Given the description of an element on the screen output the (x, y) to click on. 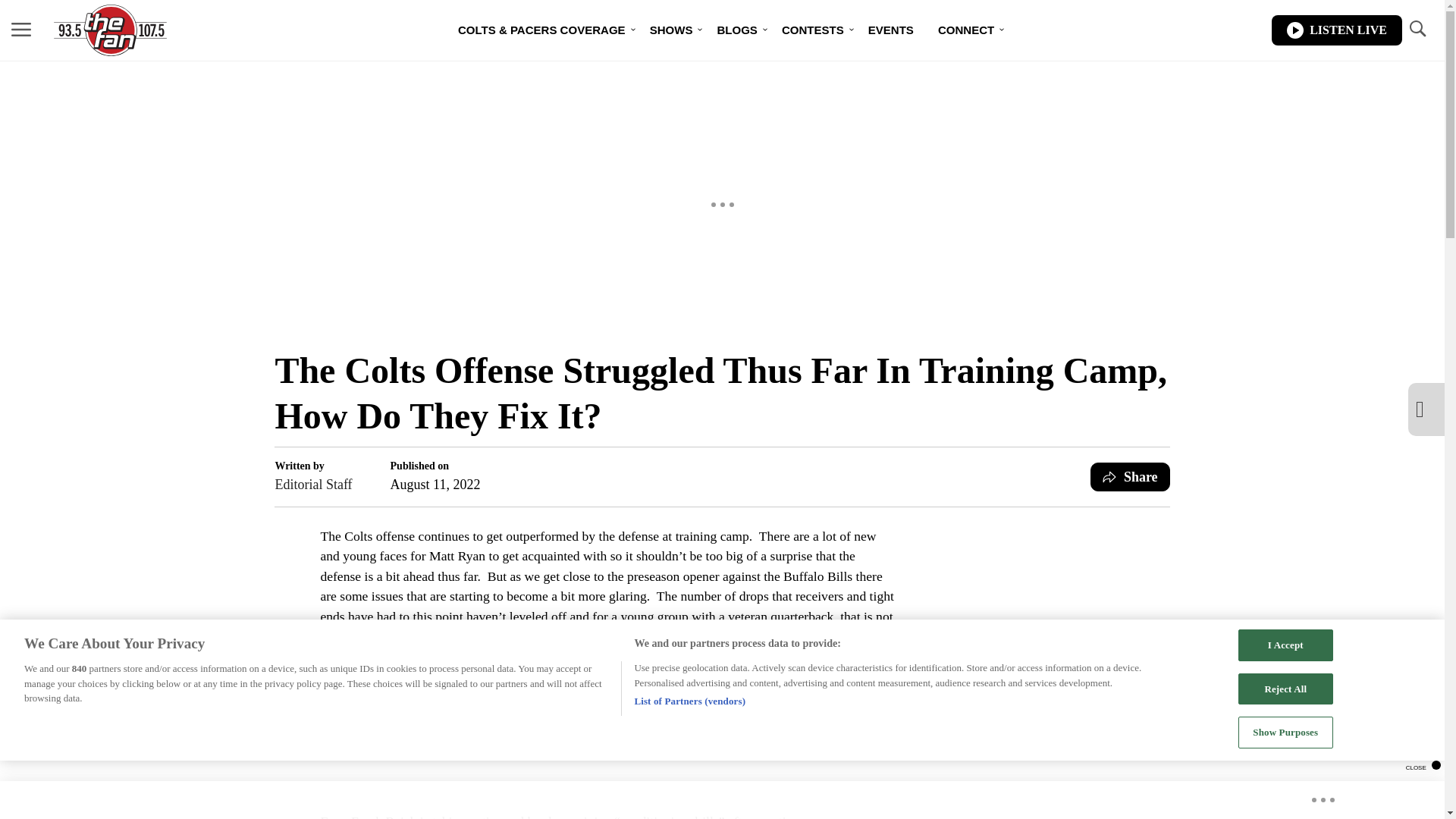
TOGGLE SEARCH (1417, 30)
TOGGLE SEARCH (1417, 28)
CONTESTS (813, 30)
EVENTS (891, 30)
BLOGS (736, 30)
SHOWS (670, 30)
CONNECT (966, 30)
MENU (20, 30)
MENU (20, 29)
LISTEN LIVE (1336, 30)
